Given the description of an element on the screen output the (x, y) to click on. 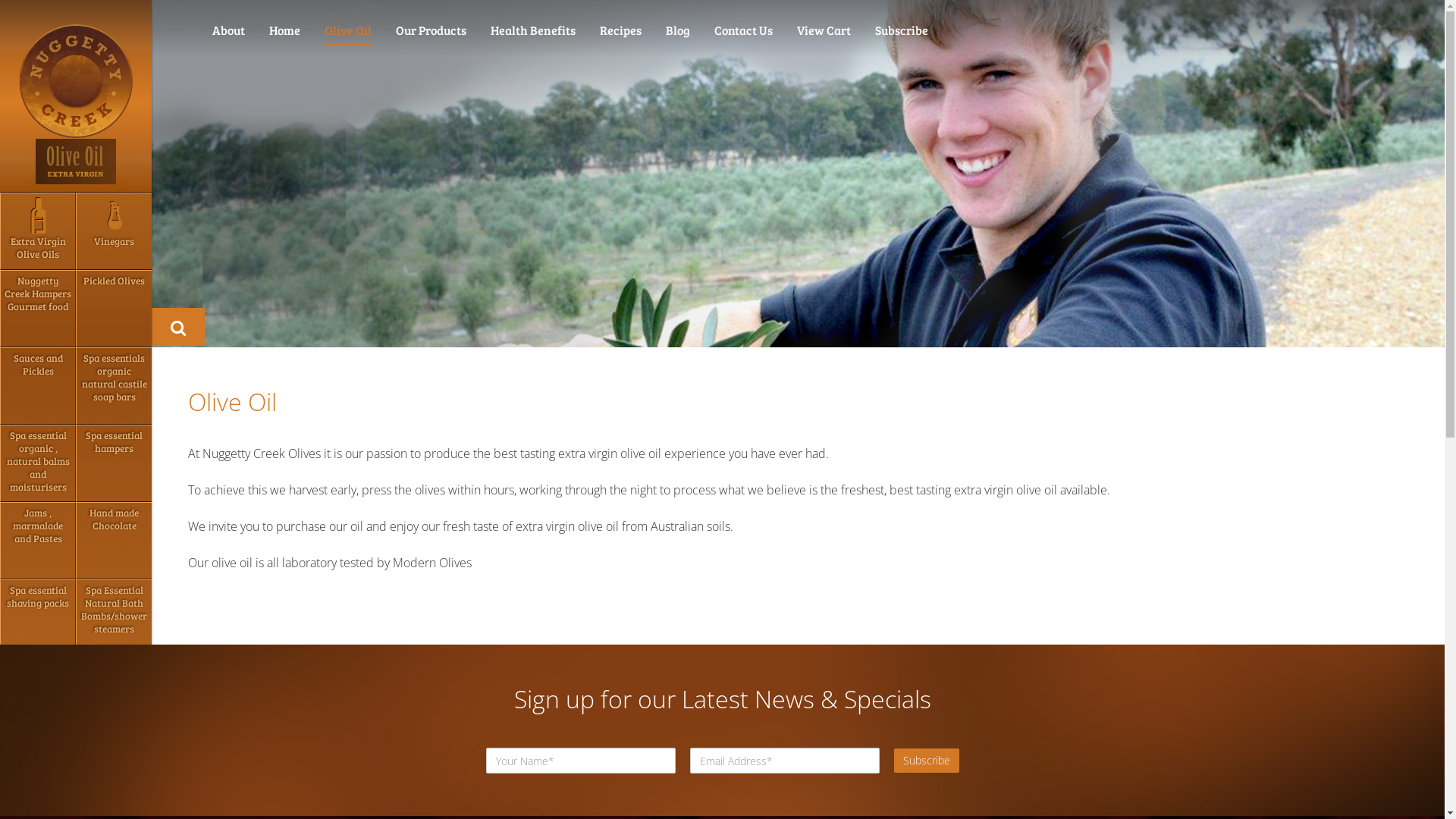
Health Benefits Element type: text (532, 29)
Contact Us Element type: text (743, 29)
Hampers Under $50 Element type: text (113, 695)
Blog Element type: text (677, 29)
Hampers under $30 Element type: text (37, 695)
Our Products Element type: text (430, 29)
Home Element type: text (284, 29)
View Cart Element type: text (823, 29)
Spa Essential Natural Bath Bombs/shower steamers Element type: text (113, 617)
Spa essentials organic natural castile soap bars Element type: text (113, 385)
Jams , marmalade and Pastes Element type: text (37, 540)
Pickled Olives Element type: text (113, 308)
Olive Oil Element type: text (347, 32)
About Element type: text (228, 29)
Fresh Organic Cherries Element type: text (113, 772)
Spa essential hampers Element type: text (113, 463)
Subscribe Element type: text (925, 760)
Sauces and Pickles Element type: text (37, 385)
Hand made Chocolate Element type: text (113, 540)
Recipes Element type: text (620, 29)
Extra Virgin Olive Oils Element type: text (37, 231)
Spa essential shaving packs Element type: text (37, 617)
Nuggetty Creek Hampers Gourmet food Element type: text (37, 308)
Subscribe Element type: text (901, 29)
Vinegars Element type: text (113, 231)
Hampers for Family and Friends under $100.00 Element type: text (37, 772)
Spa essential organic , natural balms and moisturisers Element type: text (37, 463)
